Given the description of an element on the screen output the (x, y) to click on. 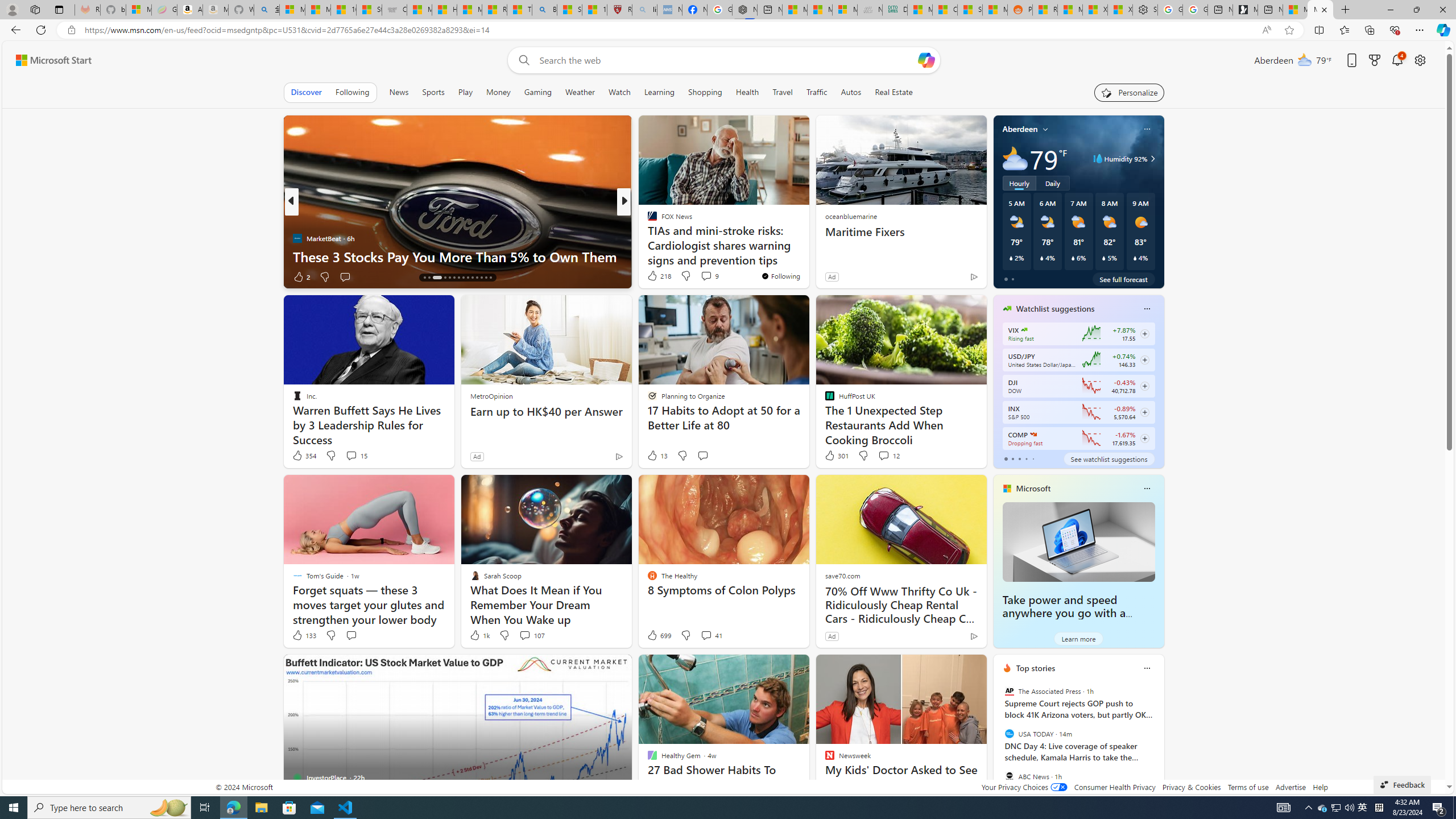
Recipes - MSN (494, 9)
Humidity 92% (1150, 158)
1k Like (478, 634)
Your Privacy Choices (1024, 786)
View comments 167 Comment (709, 276)
View comments 15 Comment (350, 455)
Autos (850, 92)
View comments 15 Comment (355, 455)
133 Like (303, 634)
